Given the description of an element on the screen output the (x, y) to click on. 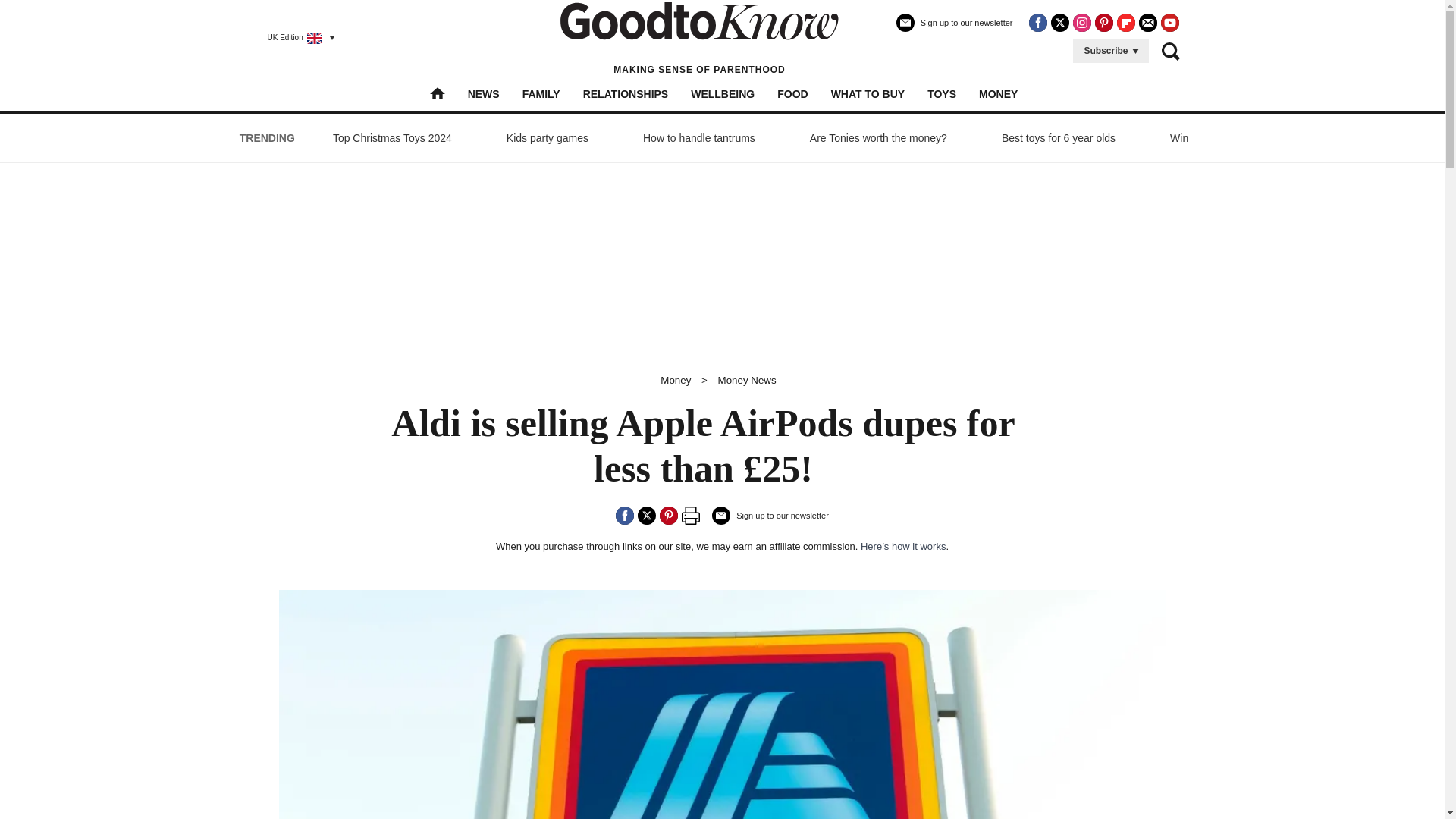
NEWS (483, 93)
Sign up to our newsletter (954, 28)
FOOD (792, 93)
Best toys for 6 year olds (1058, 137)
WELLBEING (722, 93)
TOYS (941, 93)
MAKING SENSE OF PARENTHOOD (699, 38)
Money (675, 379)
How to handle tantrums (698, 137)
WHAT TO BUY (867, 93)
